Given the description of an element on the screen output the (x, y) to click on. 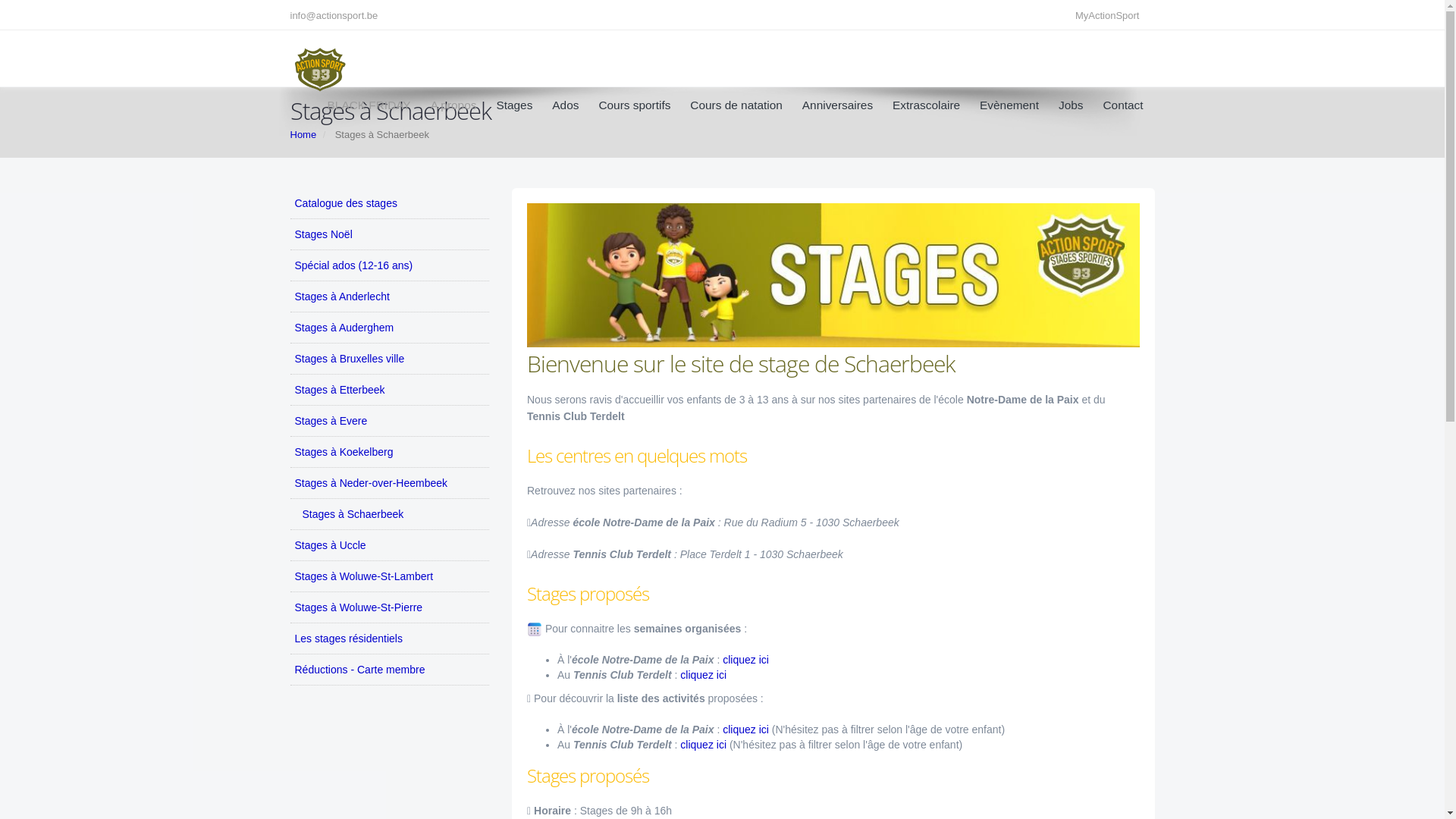
BLACK FRIDAY Element type: text (369, 105)
Extrascolaire Element type: text (926, 105)
Catalogue des stages Element type: text (389, 203)
A propos Element type: text (453, 105)
cliquez ici Element type: text (704, 744)
Ados Element type: text (564, 105)
Anniversaires Element type: text (837, 105)
Stages Element type: text (513, 105)
info@actionsport.be Element type: text (337, 15)
Contact Element type: text (1116, 105)
Jobs Element type: text (1071, 105)
cliquez ici Element type: text (746, 729)
Cours sportifs Element type: text (633, 105)
cliquez ici Element type: text (745, 659)
cliquez ici Element type: text (703, 674)
Home Element type: text (302, 134)
Cours de natation Element type: text (735, 105)
MyActionSport Element type: text (1111, 15)
